Given the description of an element on the screen output the (x, y) to click on. 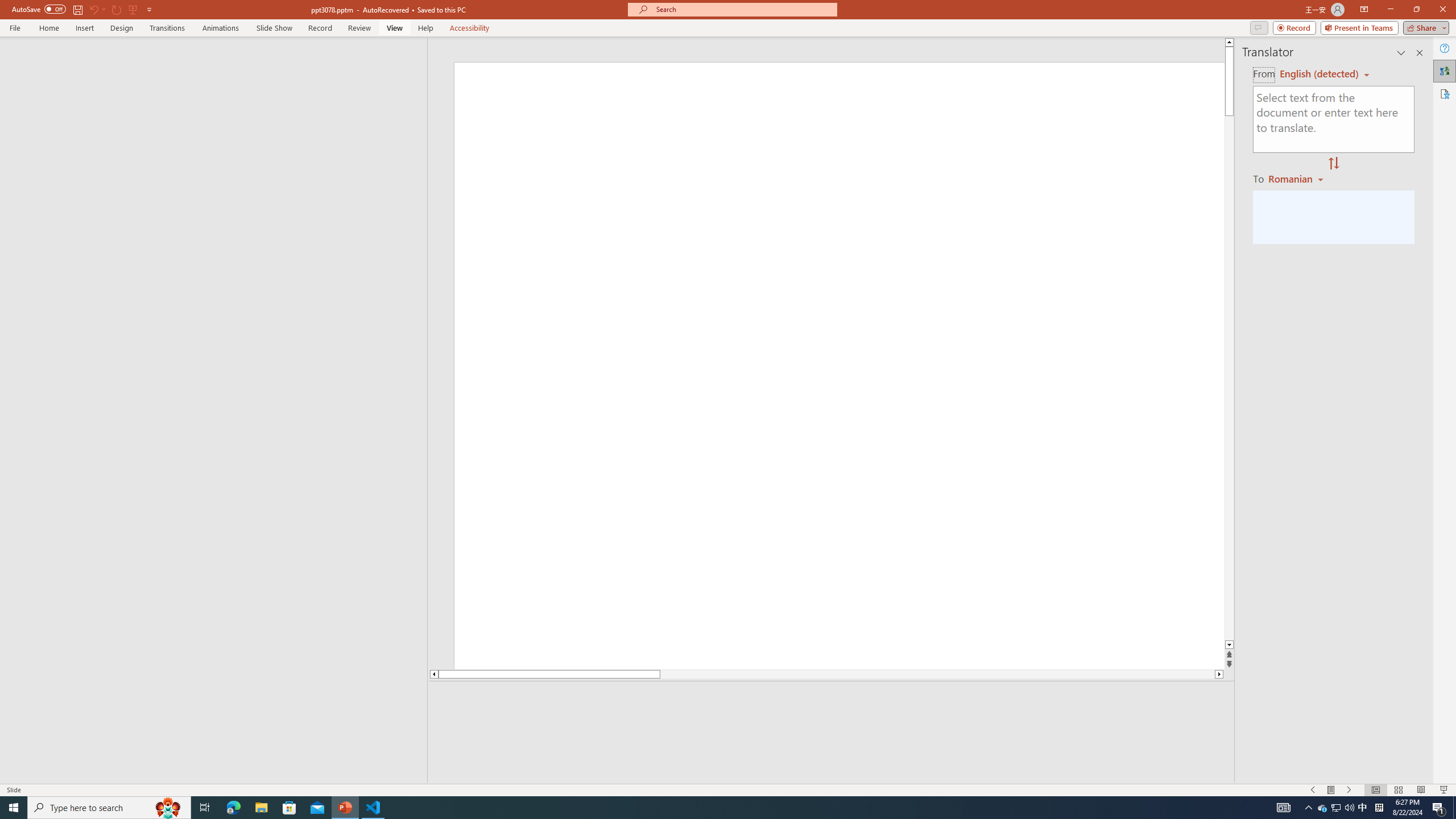
Slide Show Next On (1349, 790)
